Given the description of an element on the screen output the (x, y) to click on. 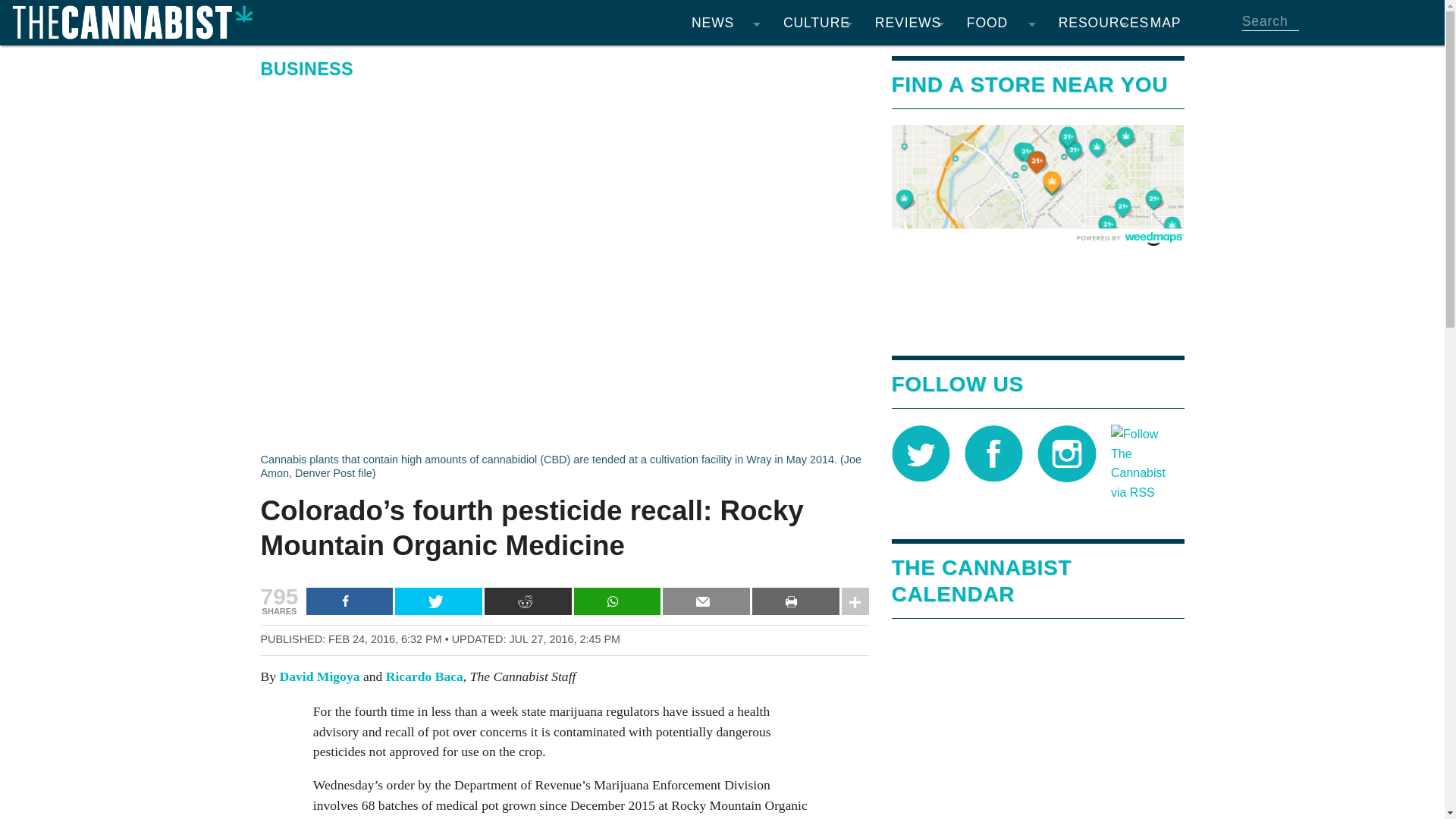
CANNABIS RECIPES (1000, 60)
ENTERTAINMENT (817, 60)
NEWS (725, 22)
View all posts in Business (306, 68)
BUSINESS (725, 212)
GONE HEMP (909, 121)
YEAR IN REVIEW (725, 272)
US NEWS (725, 121)
POT AND PARENTING (817, 212)
CULTURE (817, 22)
